Given the description of an element on the screen output the (x, y) to click on. 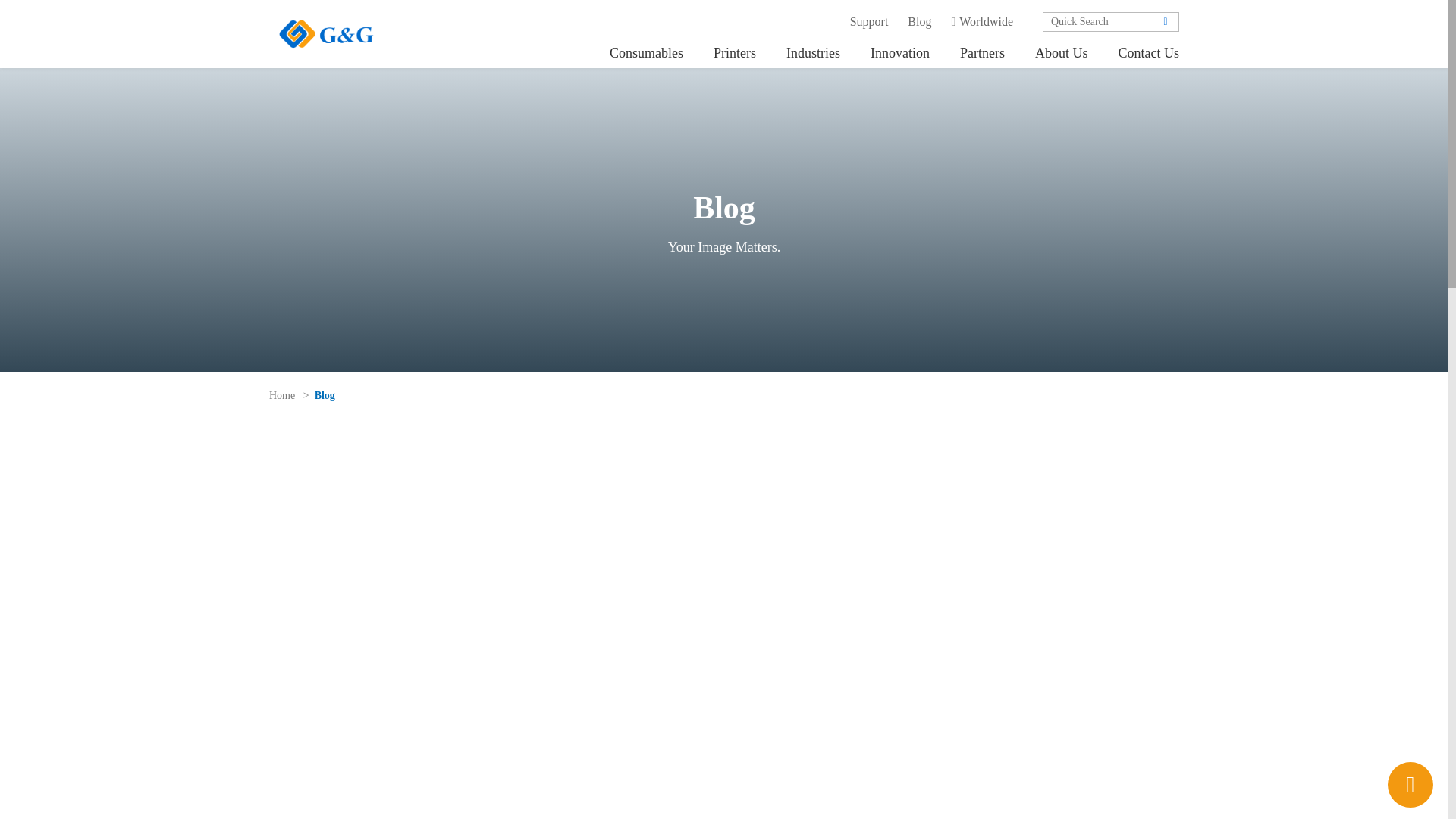
Blog (919, 21)
Innovation (900, 52)
Consumables (646, 52)
Industries (813, 52)
Support (869, 21)
Printers (734, 52)
logo (325, 33)
Worldwide (981, 21)
